Given the description of an element on the screen output the (x, y) to click on. 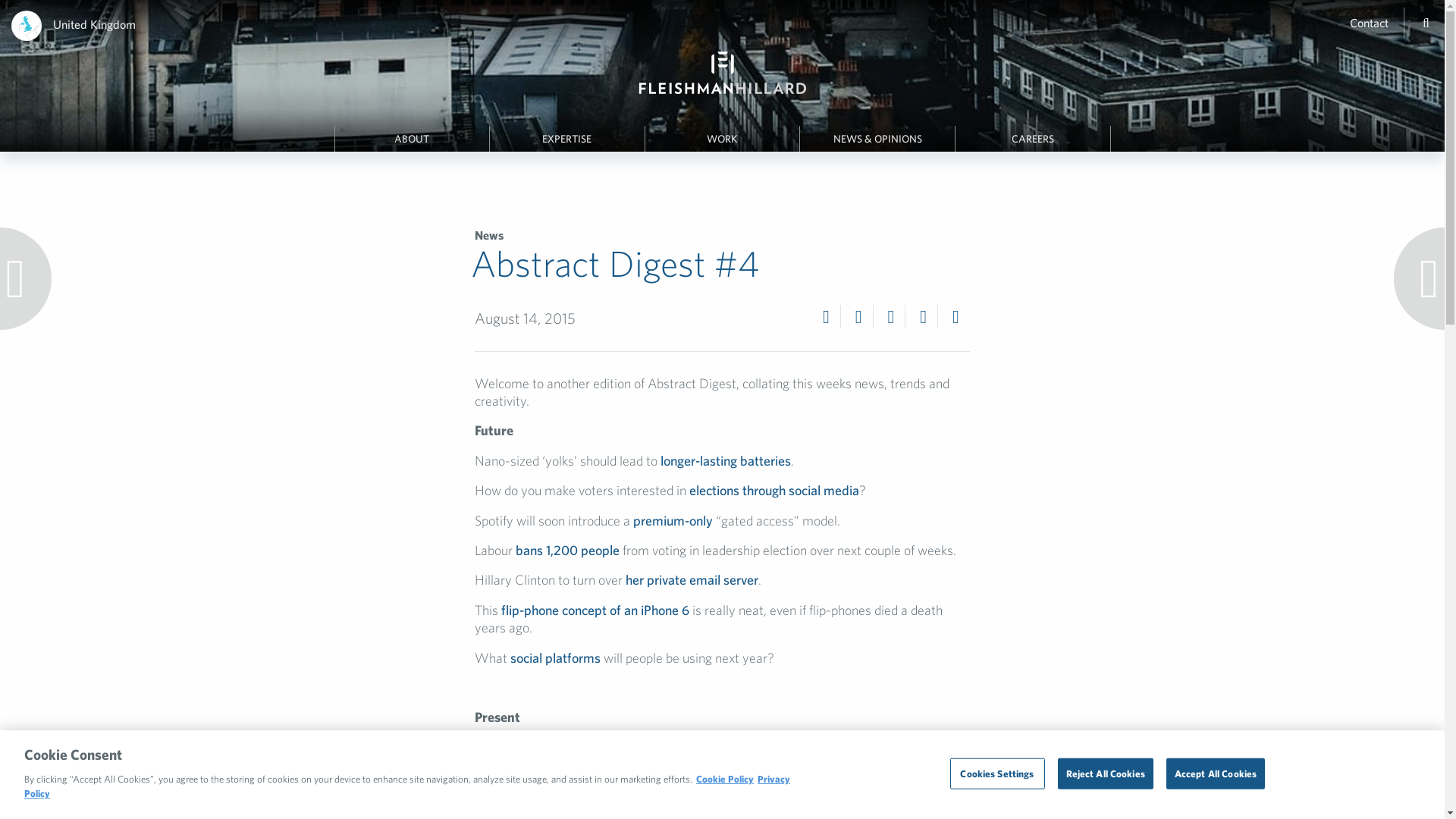
premium-only (673, 520)
Contact (1369, 22)
flip-phone concept of an iPhone 6 (594, 609)
courting hackers (564, 747)
bans 1,200 people (567, 549)
CAREERS (1032, 138)
United Kingdom (93, 24)
News (488, 234)
EXPERTISE (567, 138)
outdoor cinemas (601, 776)
